Given the description of an element on the screen output the (x, y) to click on. 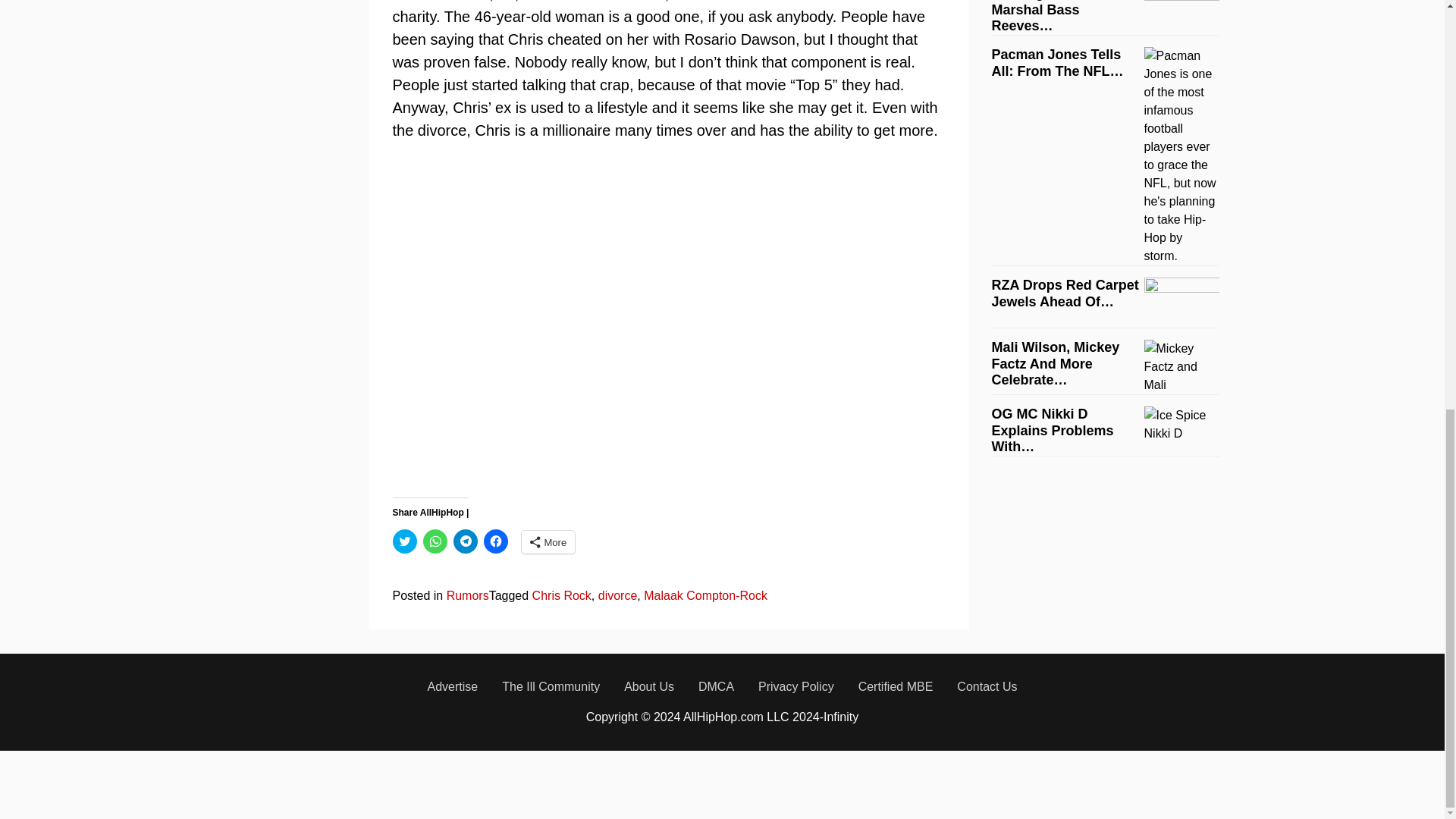
Click to share on WhatsApp (434, 541)
Click to share on Twitter (404, 541)
Click to share on Telegram (464, 541)
Click to share on Facebook (495, 541)
